Given the description of an element on the screen output the (x, y) to click on. 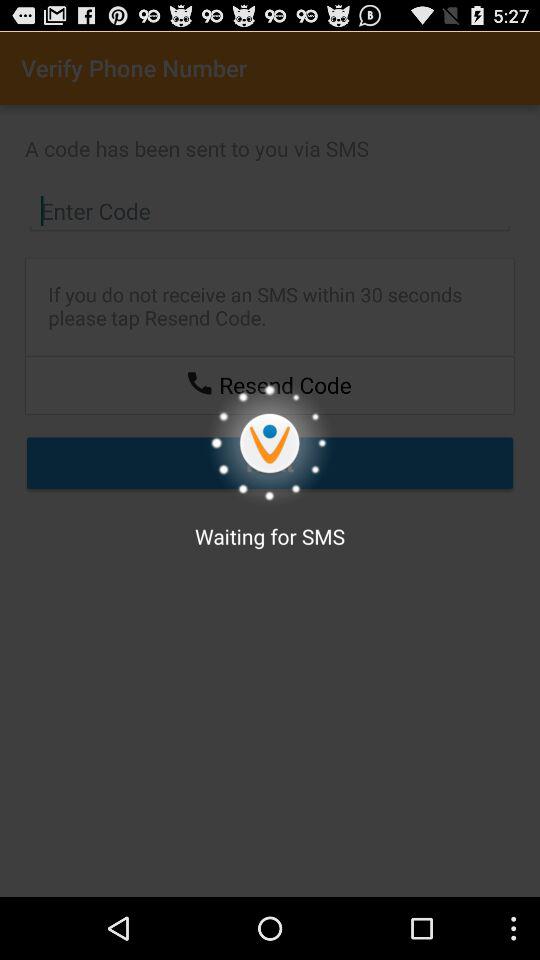
mobile number sent code (199, 381)
